Given the description of an element on the screen output the (x, y) to click on. 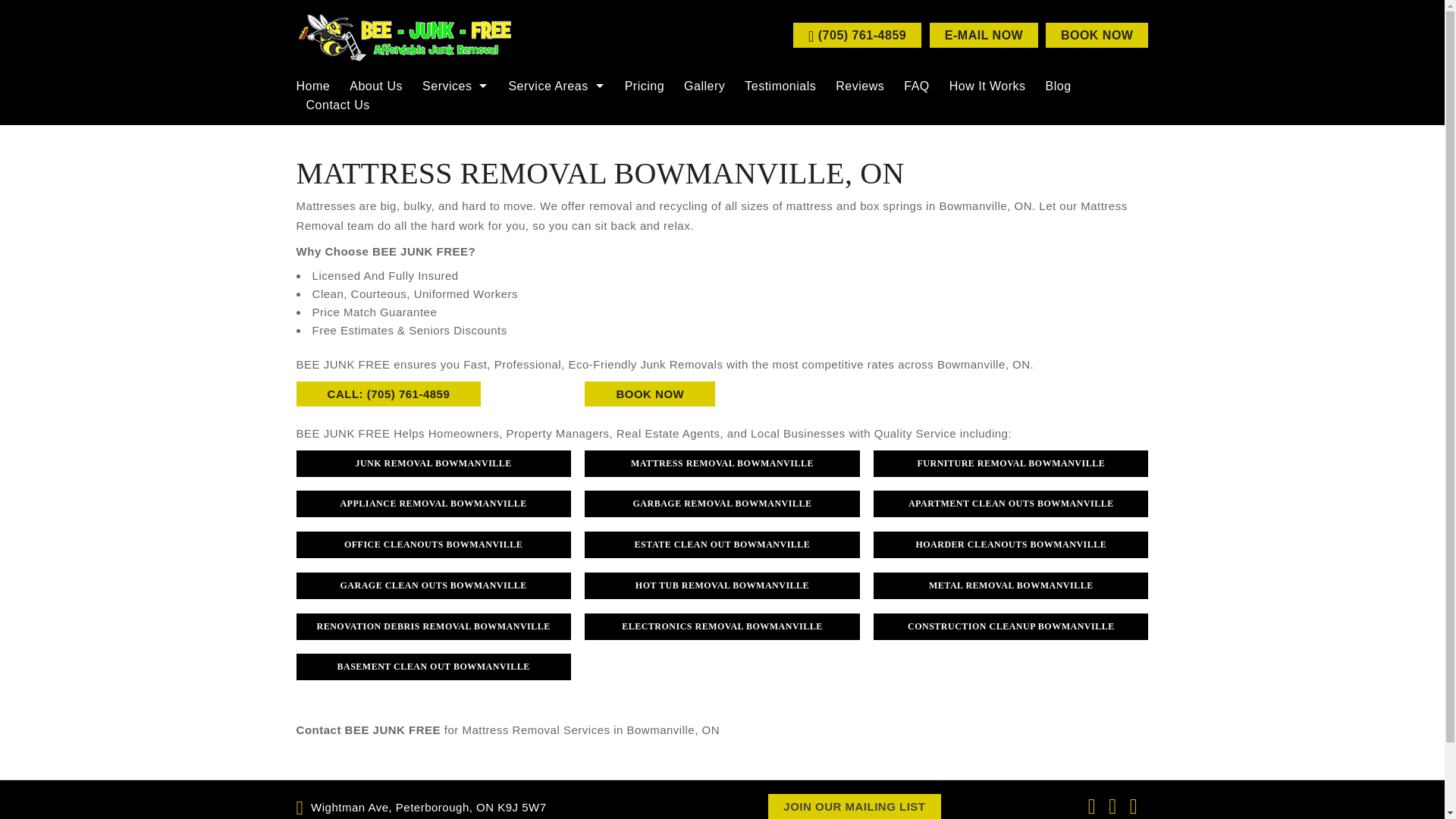
Home (318, 85)
Service Areas (555, 85)
Services (454, 85)
E-MAIL NOW (984, 34)
BOOK NOW (1096, 34)
About Us (375, 85)
